Given the description of an element on the screen output the (x, y) to click on. 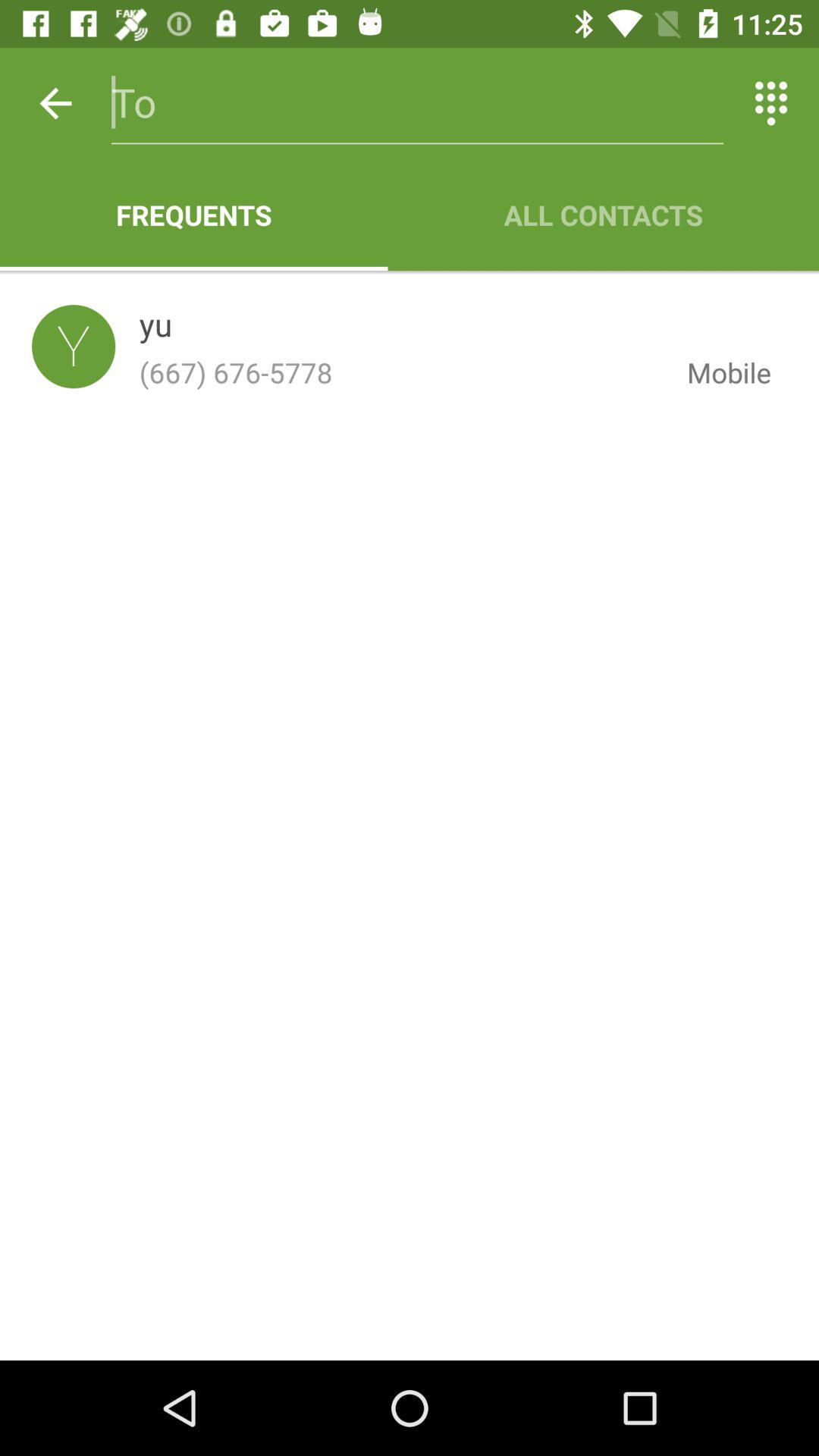
press yu item (155, 327)
